Given the description of an element on the screen output the (x, y) to click on. 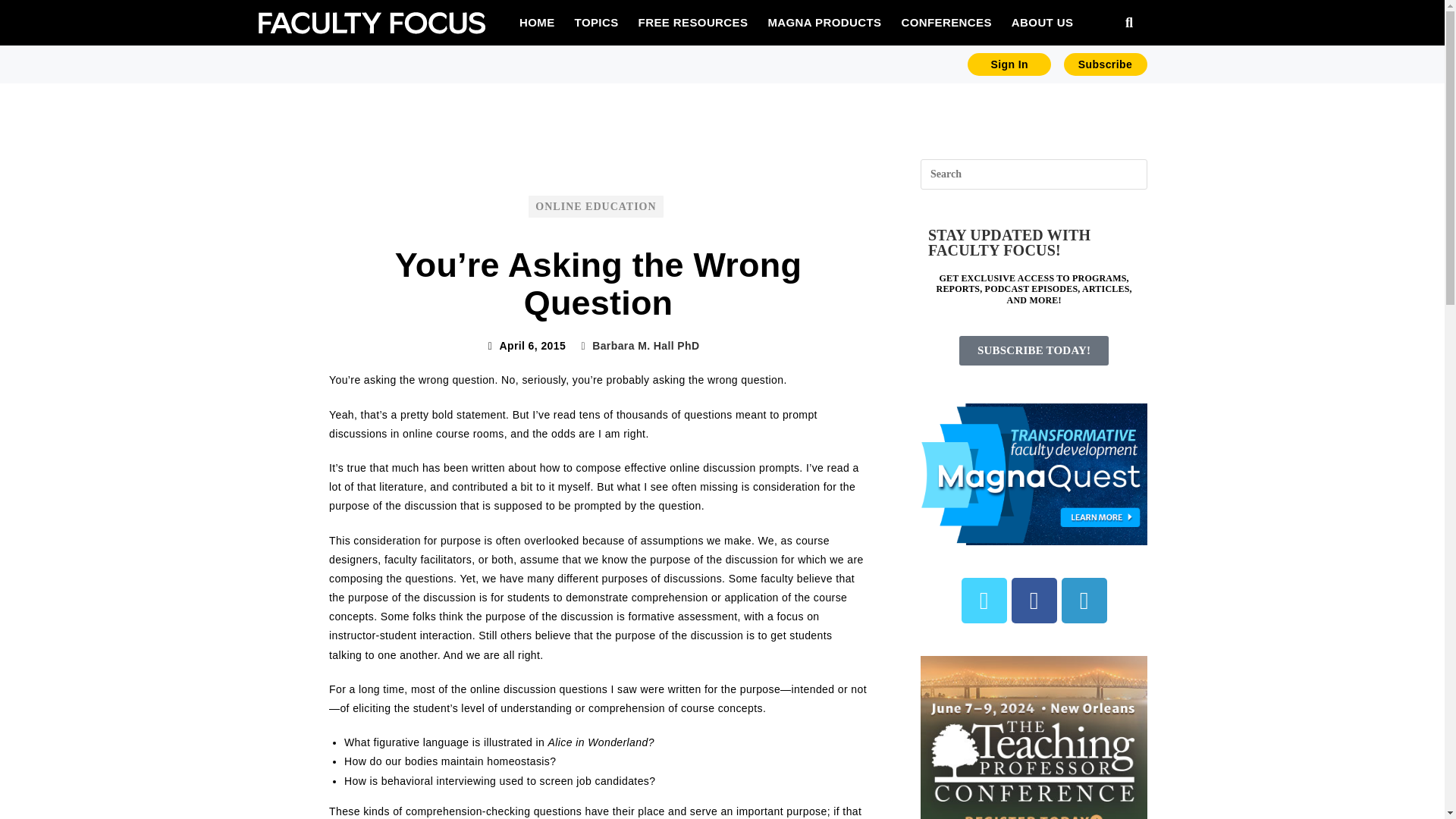
CONFERENCES (945, 22)
TOPICS (596, 22)
ABOUT US (1042, 22)
MAGNA PRODUCTS (824, 22)
FREE RESOURCES (693, 22)
HOME (536, 22)
